Given the description of an element on the screen output the (x, y) to click on. 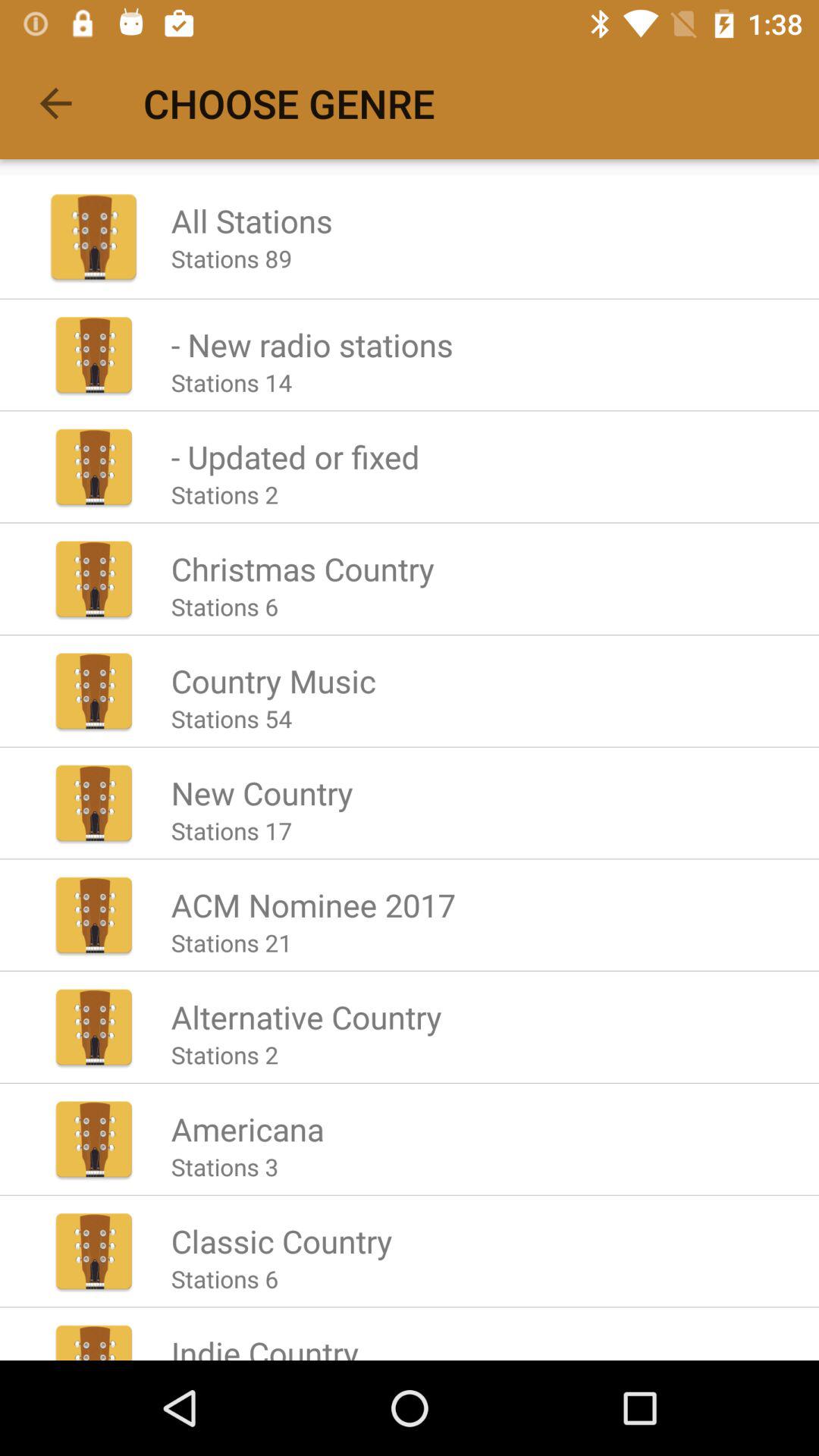
tap the icon to the left of the choose genre (55, 103)
